Given the description of an element on the screen output the (x, y) to click on. 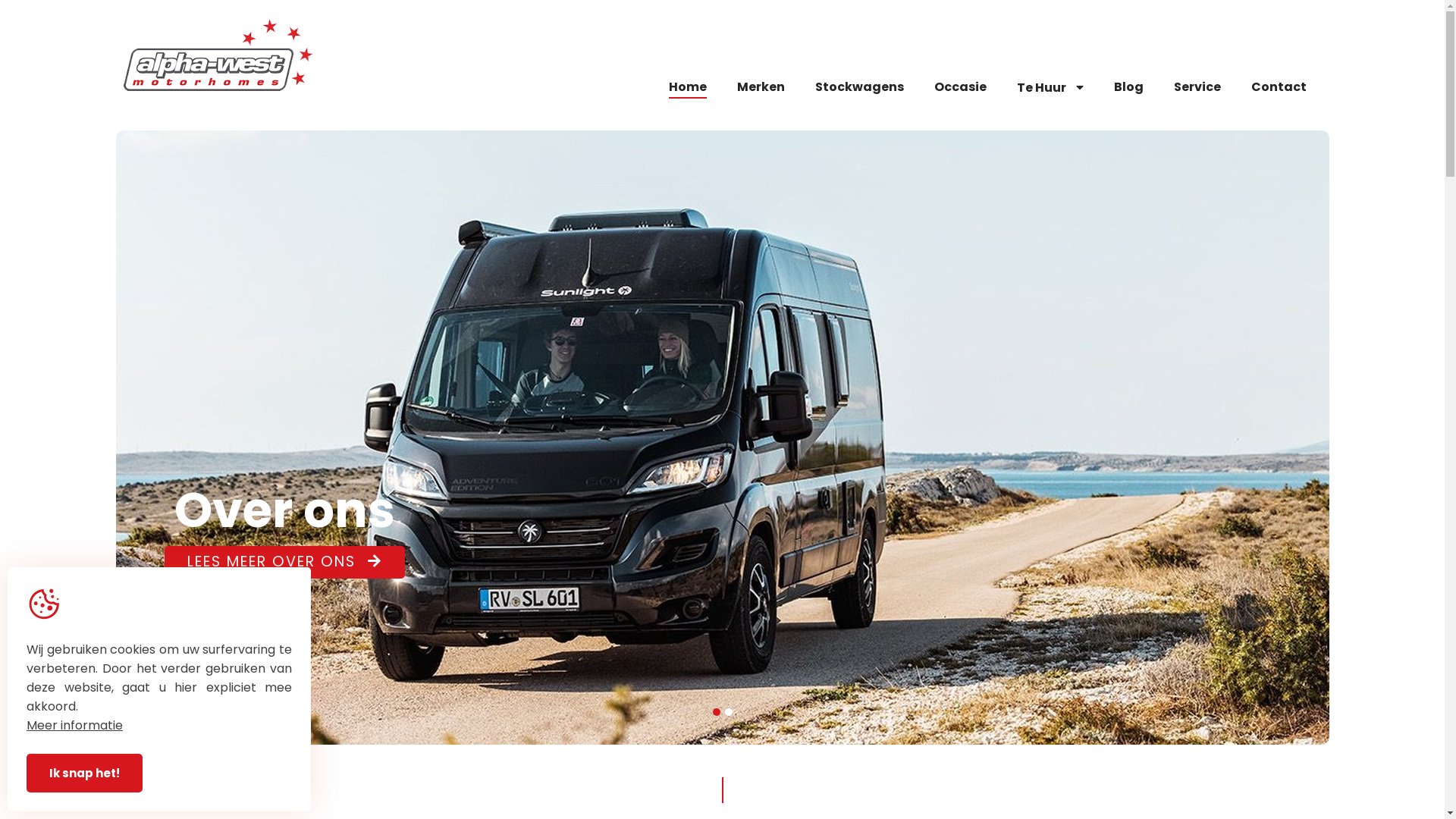
LEES MEER OVER ONS Element type: text (283, 562)
Home Element type: text (687, 87)
Blog Element type: text (1127, 87)
Occasie Element type: text (960, 87)
Service Element type: text (1196, 87)
Contact Element type: text (1278, 87)
Stockwagens Element type: text (858, 87)
Merken Element type: text (760, 87)
Ik snap het! Element type: text (84, 772)
Te Huur Element type: text (1049, 88)
ONS AANBOD Element type: text (261, 562)
Meer informatie Element type: text (74, 725)
